Given the description of an element on the screen output the (x, y) to click on. 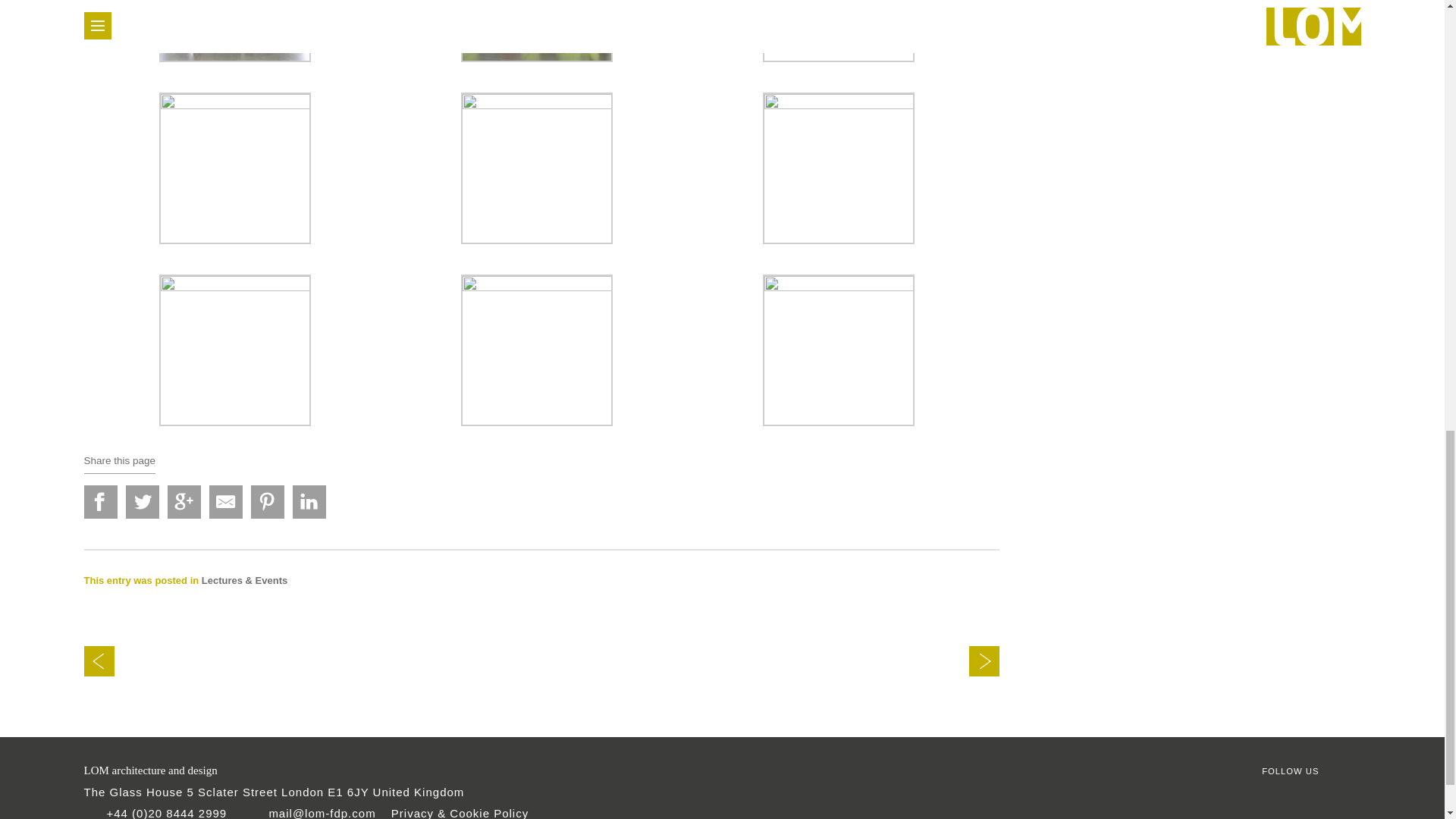
  Click for previous post  (97, 661)
Click for next post (983, 661)
